Given the description of an element on the screen output the (x, y) to click on. 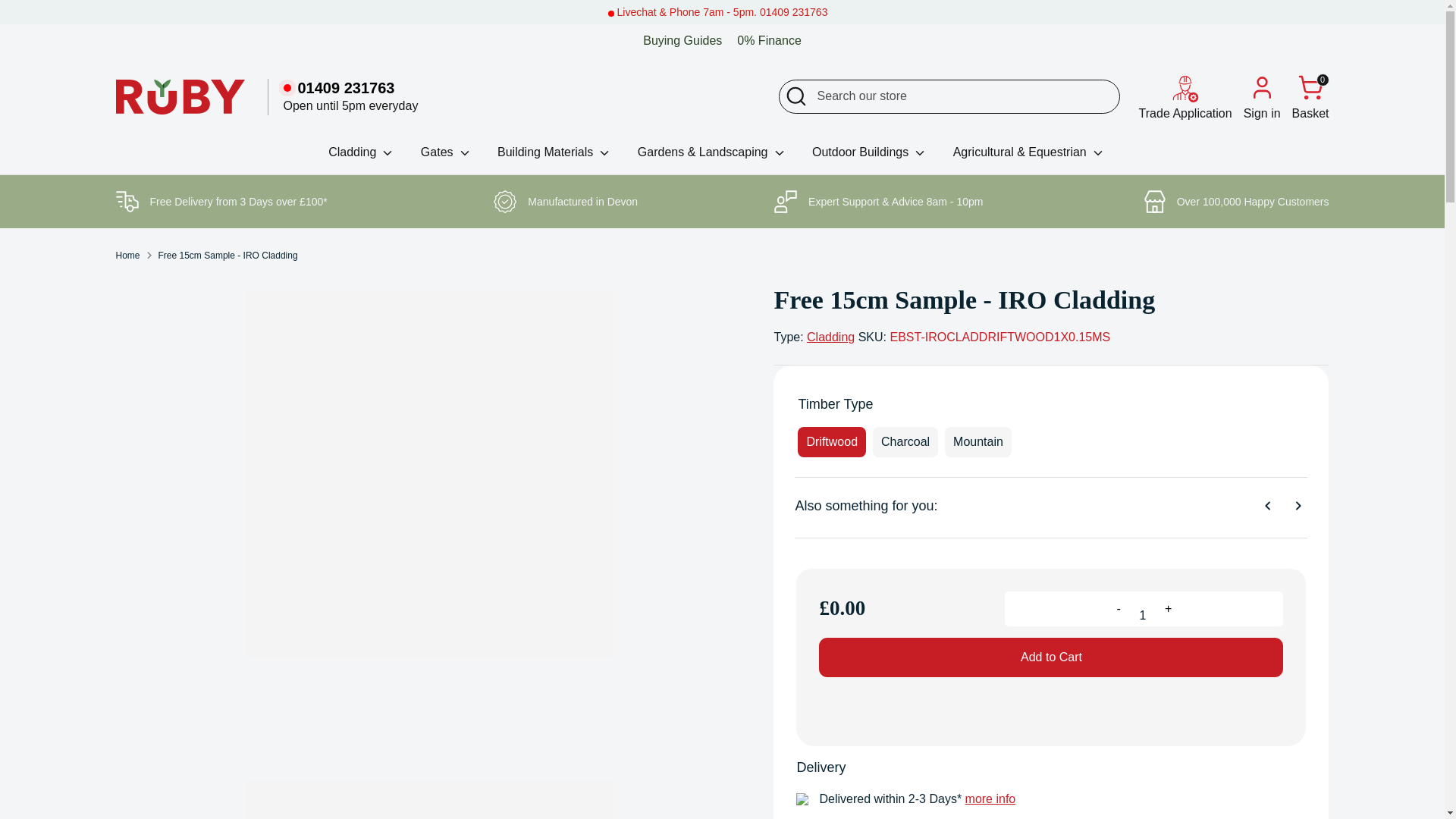
1 (1142, 608)
Trade Application (1184, 97)
01409 231763 (351, 87)
Buying Guides (682, 40)
